Given the description of an element on the screen output the (x, y) to click on. 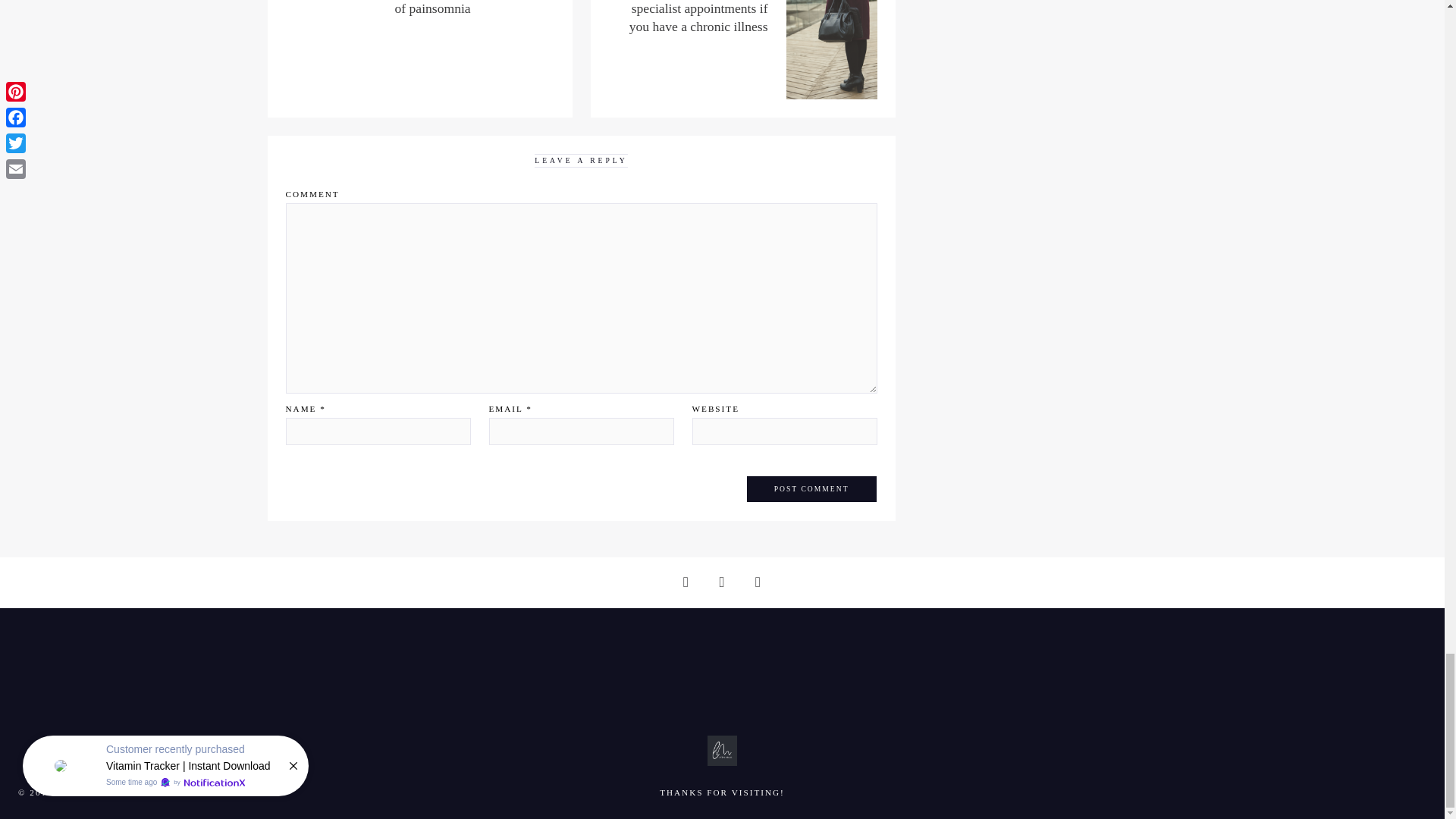
Tips for managing symptoms of painsomnia (472, 7)
Post Comment (811, 488)
